Given the description of an element on the screen output the (x, y) to click on. 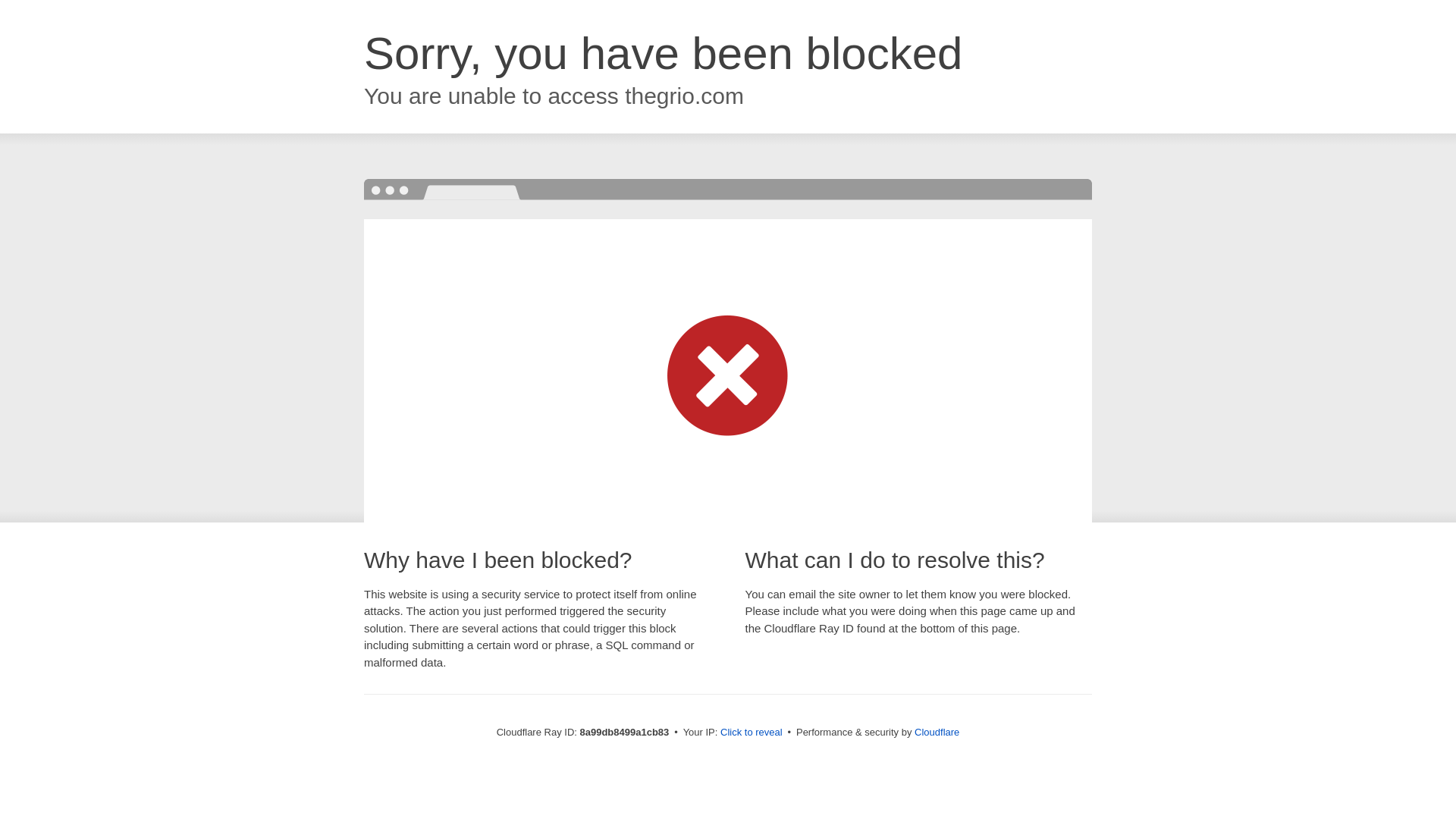
Click to reveal (751, 732)
Cloudflare (936, 731)
